Given the description of an element on the screen output the (x, y) to click on. 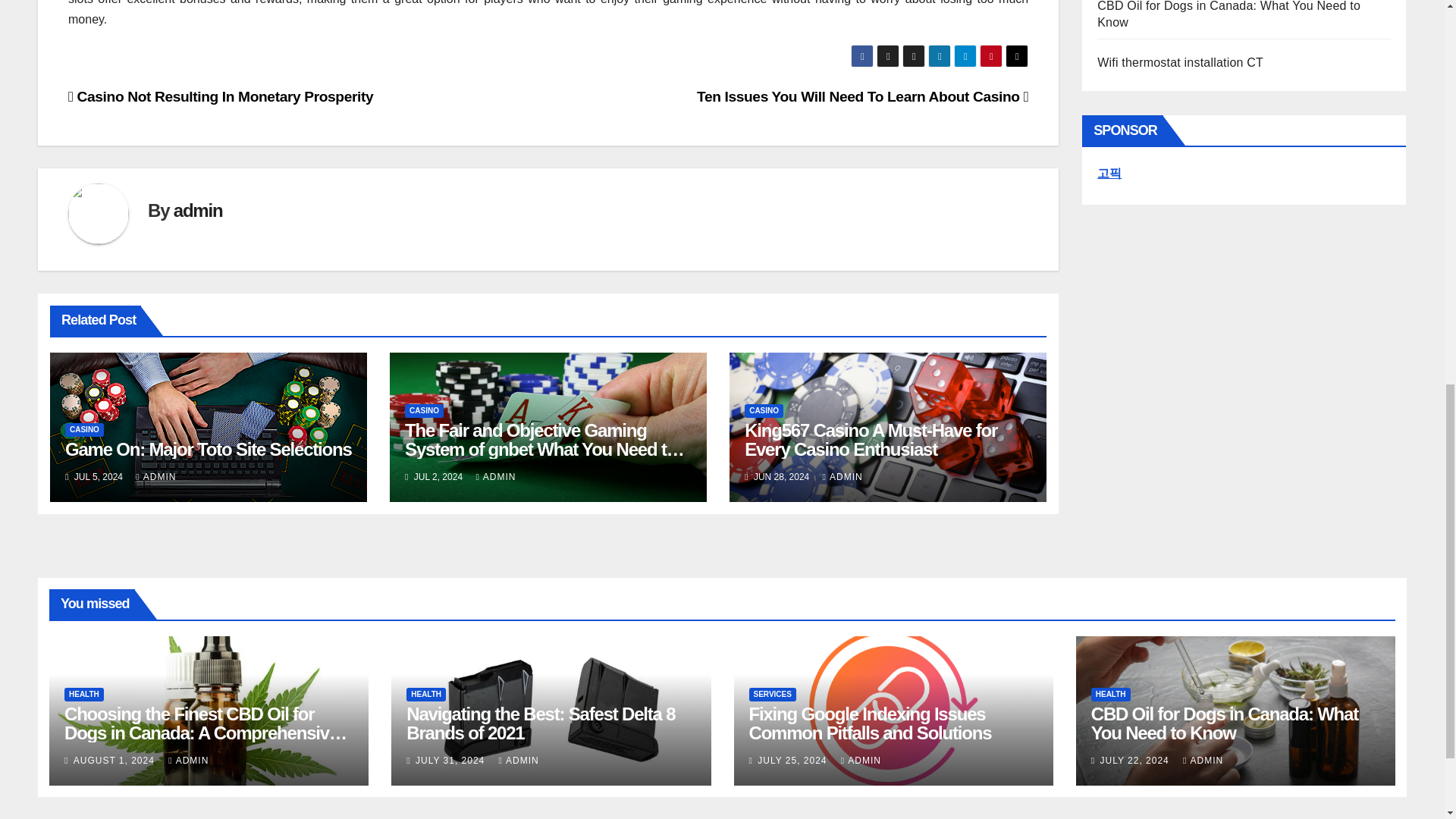
ADMIN (155, 476)
Permalink to: Game On: Major Toto Site Selections (208, 448)
CASINO (84, 429)
CASINO (424, 410)
Casino Not Resulting In Monetary Prosperity (220, 96)
Game On: Major Toto Site Selections (208, 448)
admin (197, 209)
Ten Issues You Will Need To Learn About Casino (862, 96)
